Given the description of an element on the screen output the (x, y) to click on. 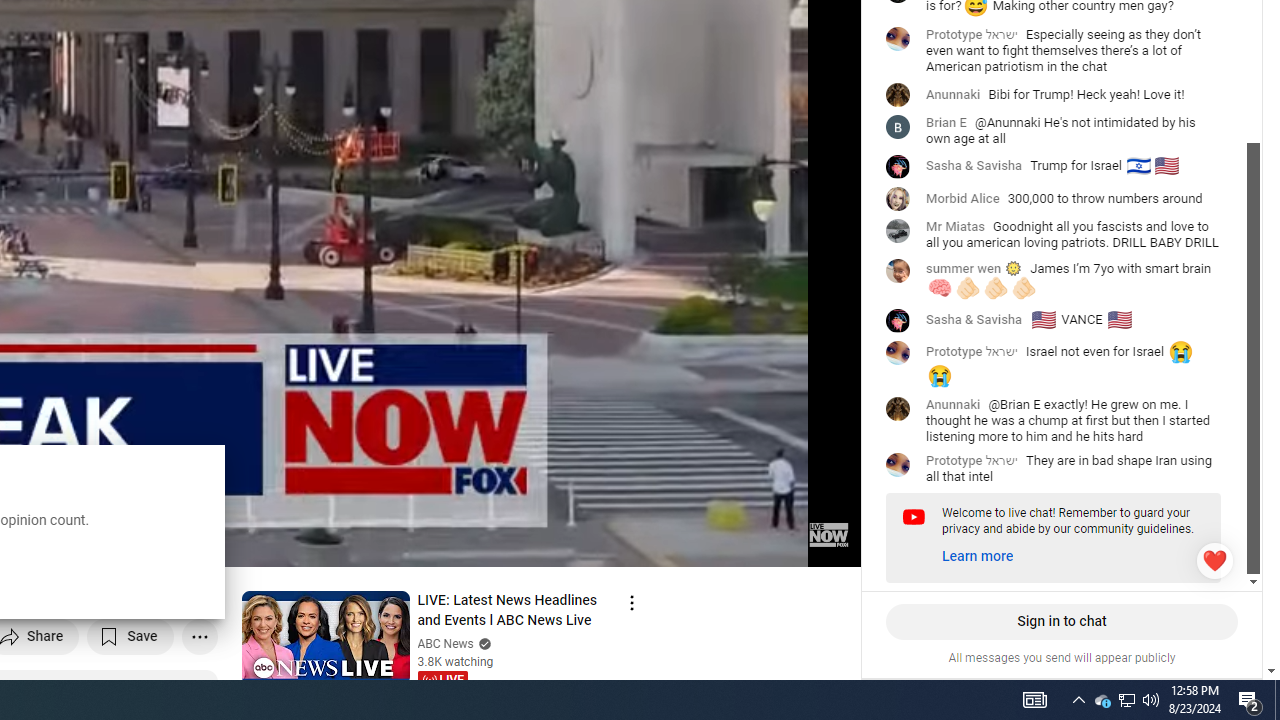
Channel watermark (828, 534)
Learn more (977, 557)
Full screen (f) (824, 543)
Channel watermark (828, 534)
Miniplayer (i) (728, 543)
Autoplay is on (584, 543)
